Given the description of an element on the screen output the (x, y) to click on. 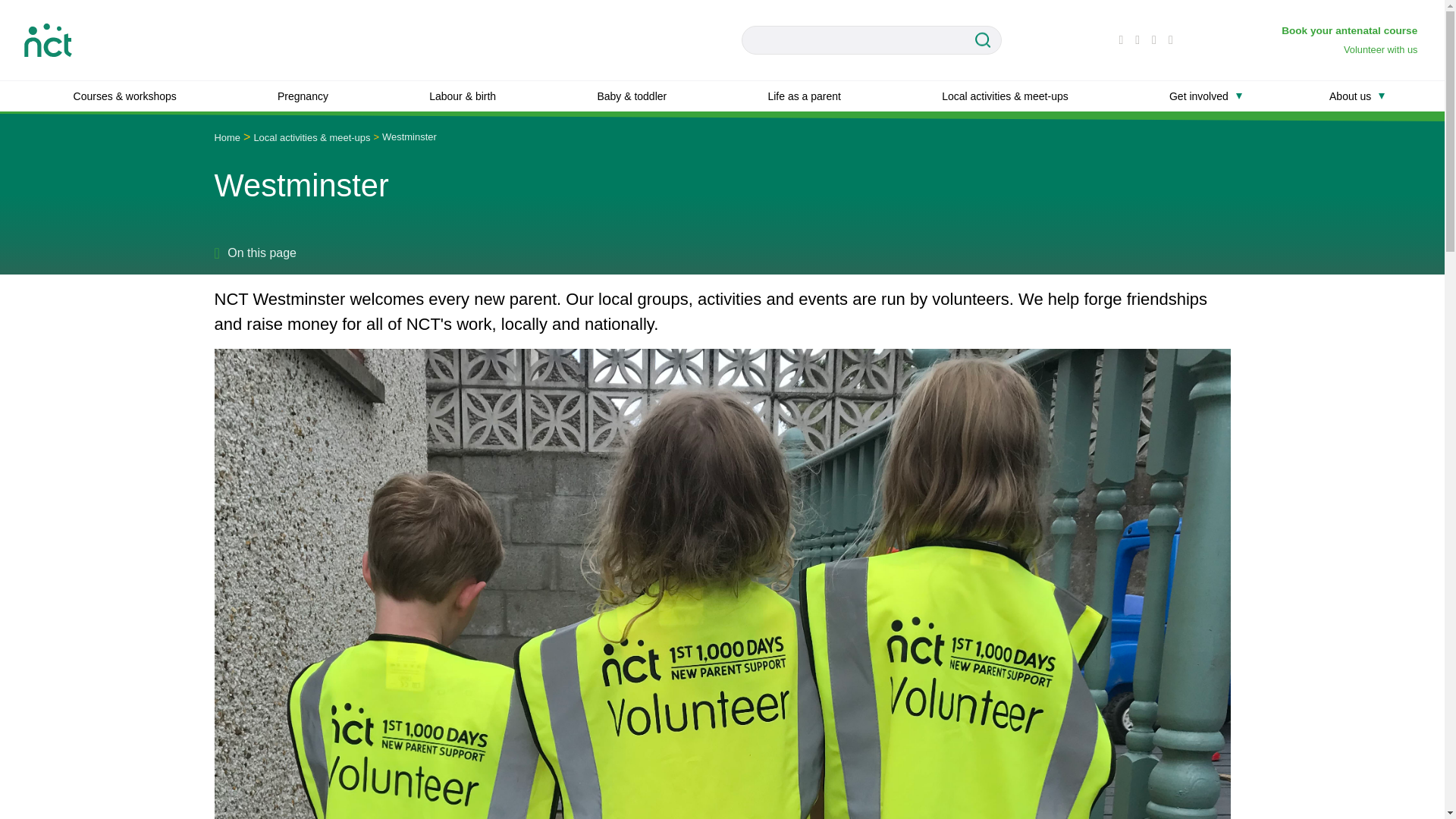
Search (987, 40)
Book your antenatal course  (1351, 30)
Get involved (1198, 96)
Book your antenatal course (1351, 30)
Evidenced-based information about life as a parent (804, 96)
Home (227, 137)
Dropdown menu button (1381, 95)
About us (1350, 96)
Dropdown menu button (1238, 95)
